Given the description of an element on the screen output the (x, y) to click on. 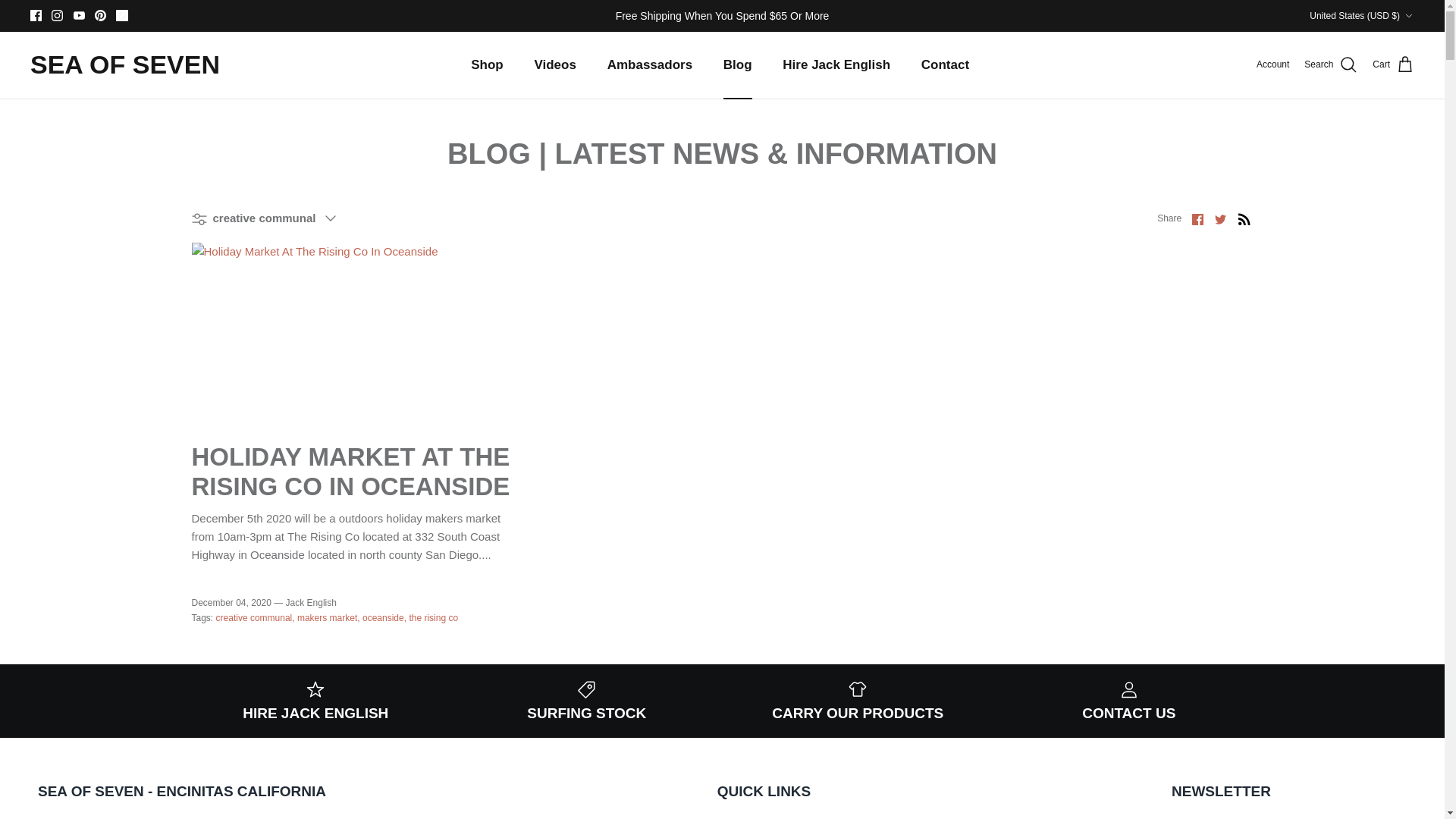
Show articles tagged oceanside (384, 617)
Youtube (79, 15)
Youtube (79, 15)
Facebook (36, 15)
Facebook (36, 15)
Down (1408, 15)
Instagram (56, 15)
Show articles tagged the rising co (433, 617)
Pinterest (100, 15)
Instagram (56, 15)
